Given the description of an element on the screen output the (x, y) to click on. 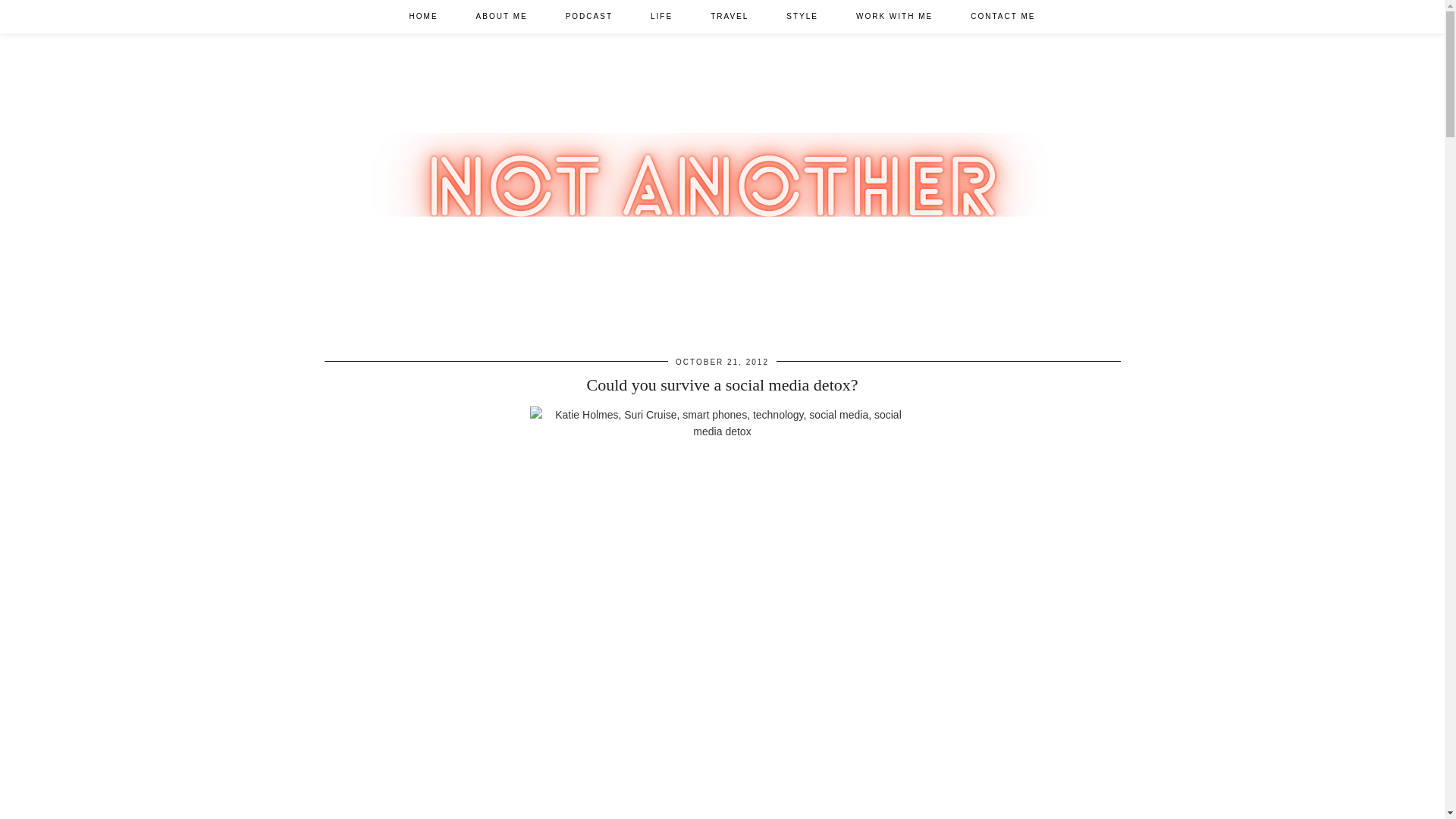
HOME (423, 16)
PODCAST (589, 16)
TRAVEL (729, 16)
WORK WITH ME (894, 16)
LIFE (661, 16)
CONTACT ME (1003, 16)
STYLE (802, 16)
ABOUT ME (502, 16)
